Given the description of an element on the screen output the (x, y) to click on. 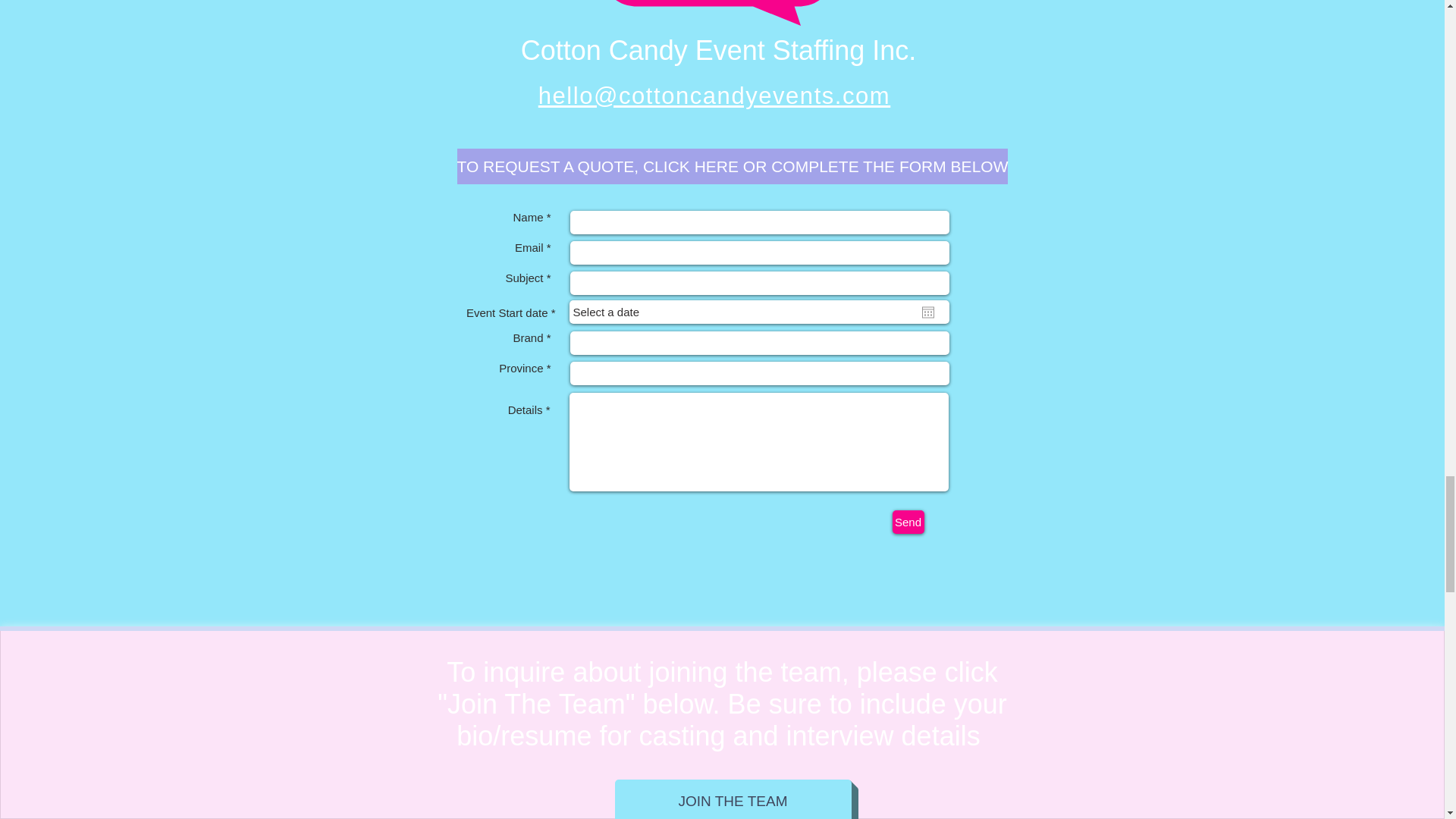
TO REQUEST A QUOTE, CLICK HERE OR COMPLETE THE FORM BELOW (732, 166)
JOIN THE TEAM (732, 799)
Send (907, 521)
